Given the description of an element on the screen output the (x, y) to click on. 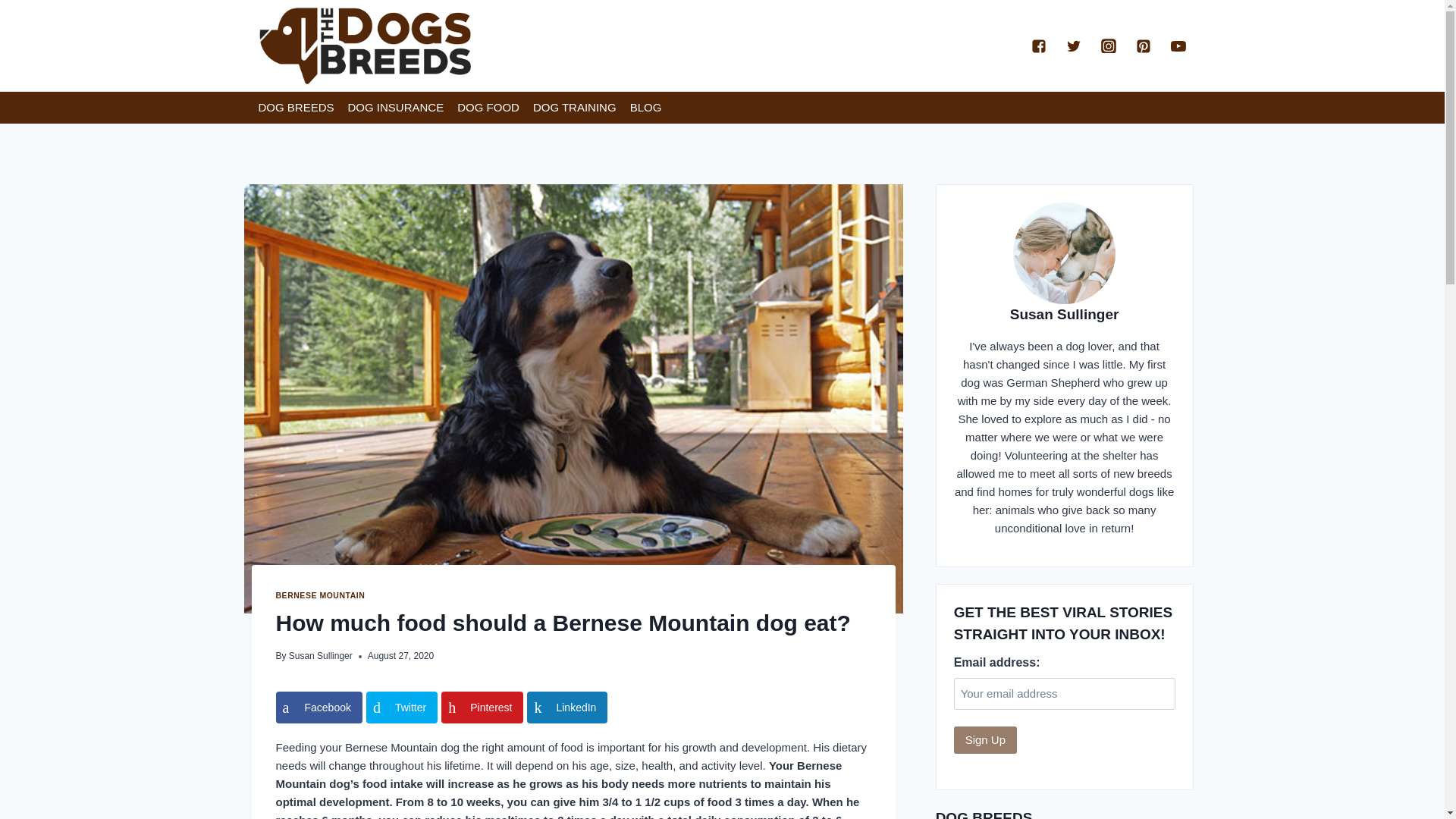
Facebook (319, 707)
DOG FOOD (487, 107)
Susan Sullinger (320, 655)
Share on Twitter (402, 707)
Share on LinkedIn (567, 707)
Share on Facebook (319, 707)
LinkedIn (567, 707)
Twitter (402, 707)
Pinterest (481, 707)
Sign Up (984, 739)
Share on Pinterest (481, 707)
BERNESE MOUNTAIN (320, 594)
BLOG (645, 107)
DOG TRAINING (574, 107)
DOG INSURANCE (395, 107)
